Given the description of an element on the screen output the (x, y) to click on. 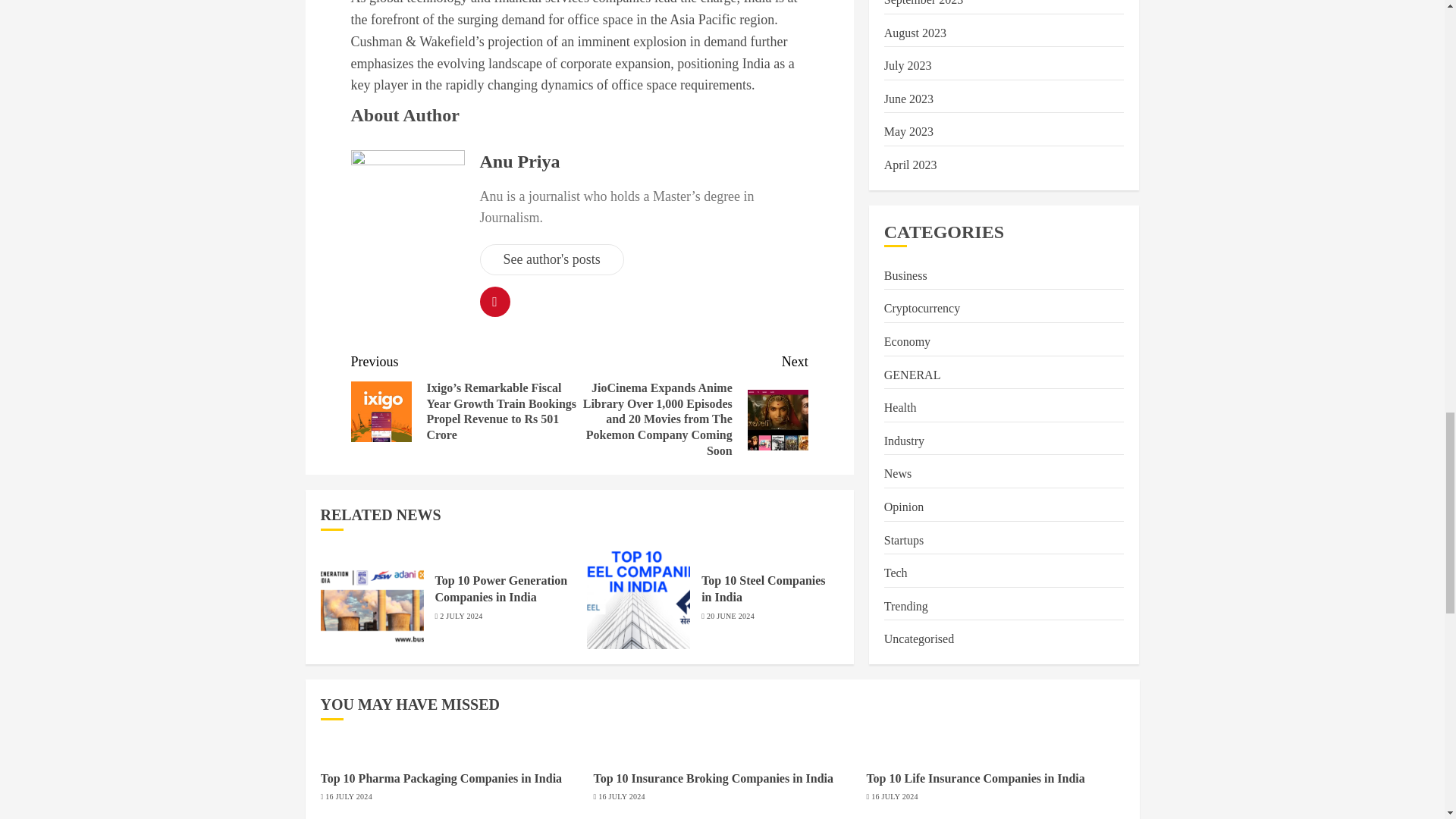
Anu Priya (519, 161)
See author's posts (551, 259)
